Given the description of an element on the screen output the (x, y) to click on. 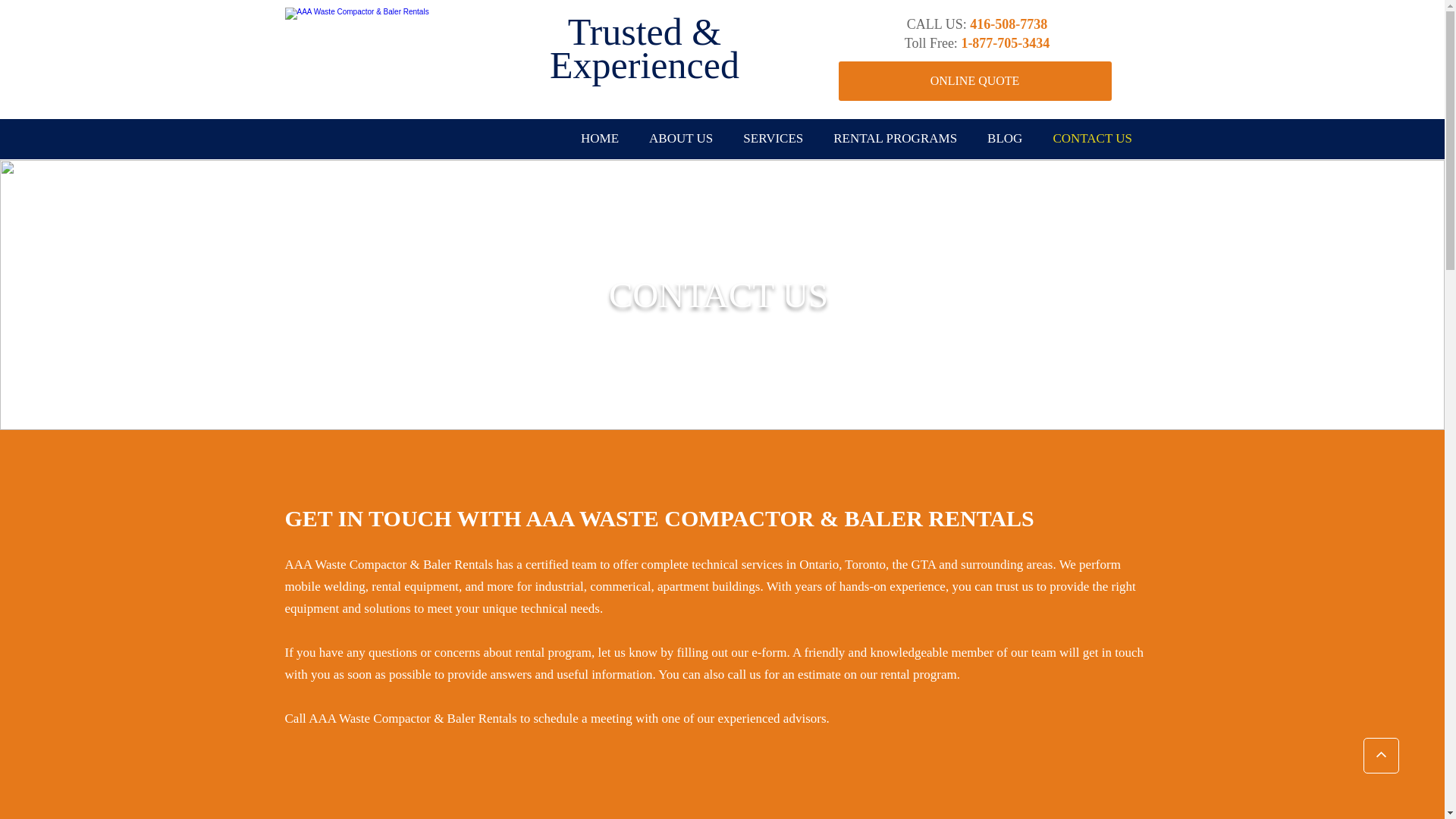
HOME Element type: text (599, 138)
RENTAL PROGRAMS Element type: text (895, 138)
BLOG Element type: text (1004, 138)
CONTACT US Element type: text (1092, 138)
1-877-705-3434 Element type: text (1004, 44)
ABOUT US Element type: text (680, 138)
ONLINE QUOTE Element type: text (974, 80)
416-508-7738 Element type: text (1008, 25)
SERVICES Element type: text (773, 138)
